Given the description of an element on the screen output the (x, y) to click on. 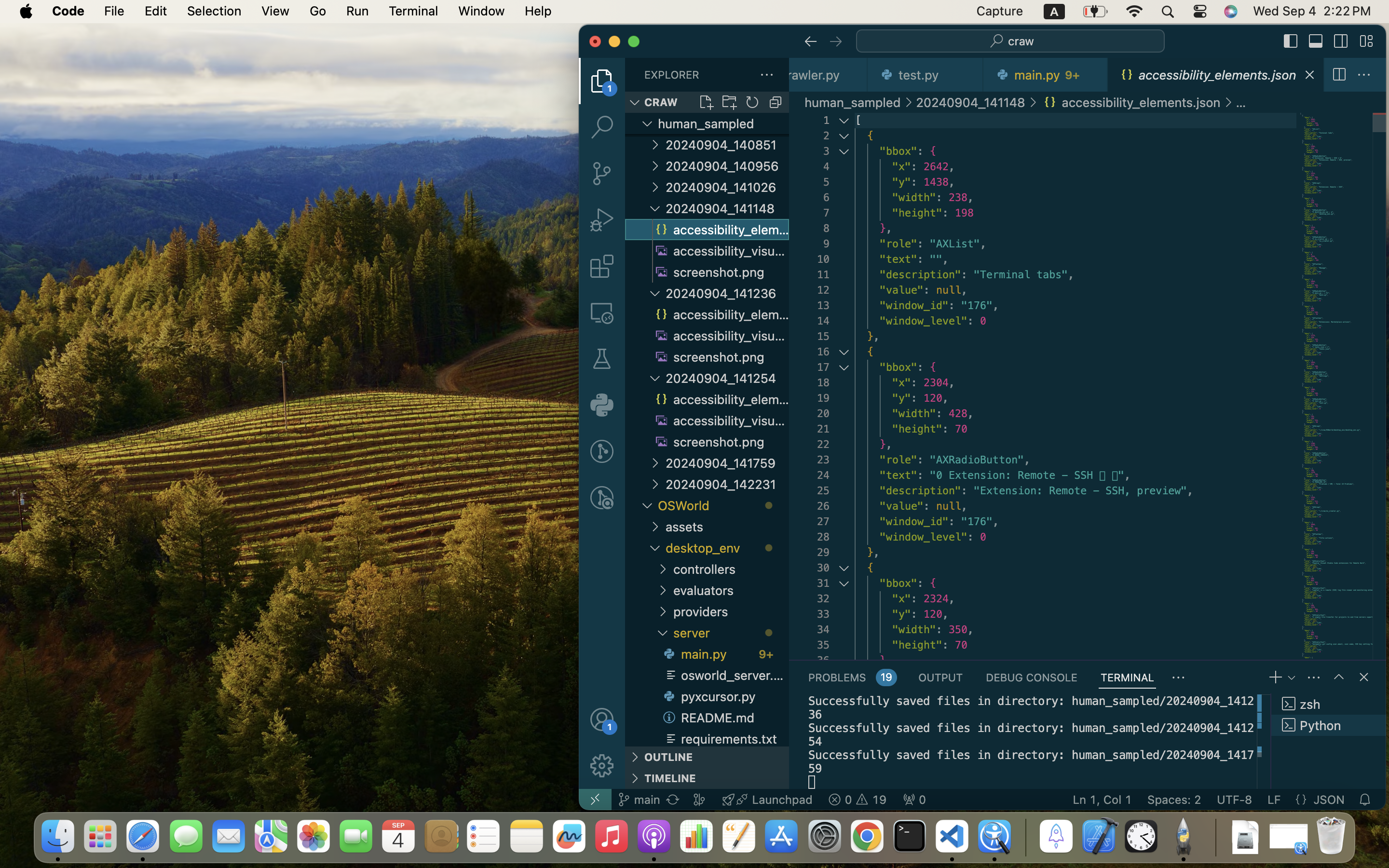
Launchpad   Element type: AXButton (766, 799)
… Element type: AXStaticText (1240, 101)
19  0  Element type: AXButton (857, 799)
1 accessibility_elements.json   Element type: AXRadioButton (1215, 74)
20240904_141148 Element type: AXGroup (727, 207)
